Given the description of an element on the screen output the (x, y) to click on. 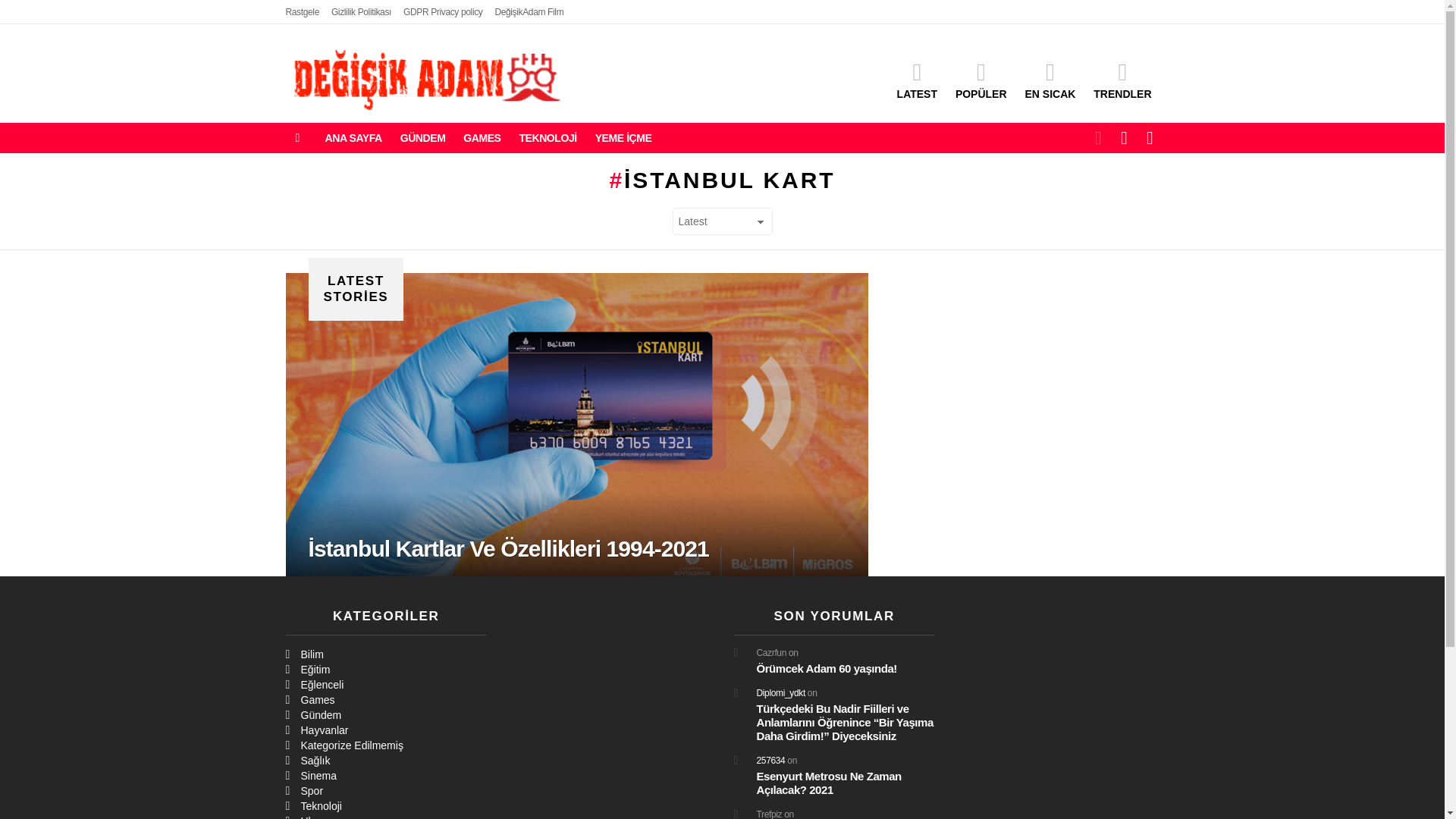
Spor (385, 790)
Rastgele (301, 12)
TRENDLER (1122, 79)
Games (385, 699)
Hayvanlar (385, 729)
EN SICAK (1049, 79)
ANA SAYFA (352, 137)
LATEST (916, 79)
GAMES (481, 137)
Teknoloji (385, 806)
Menu (296, 137)
GDPR Privacy policy (443, 12)
TEKNOLOJI (547, 137)
Bilim (385, 654)
